Given the description of an element on the screen output the (x, y) to click on. 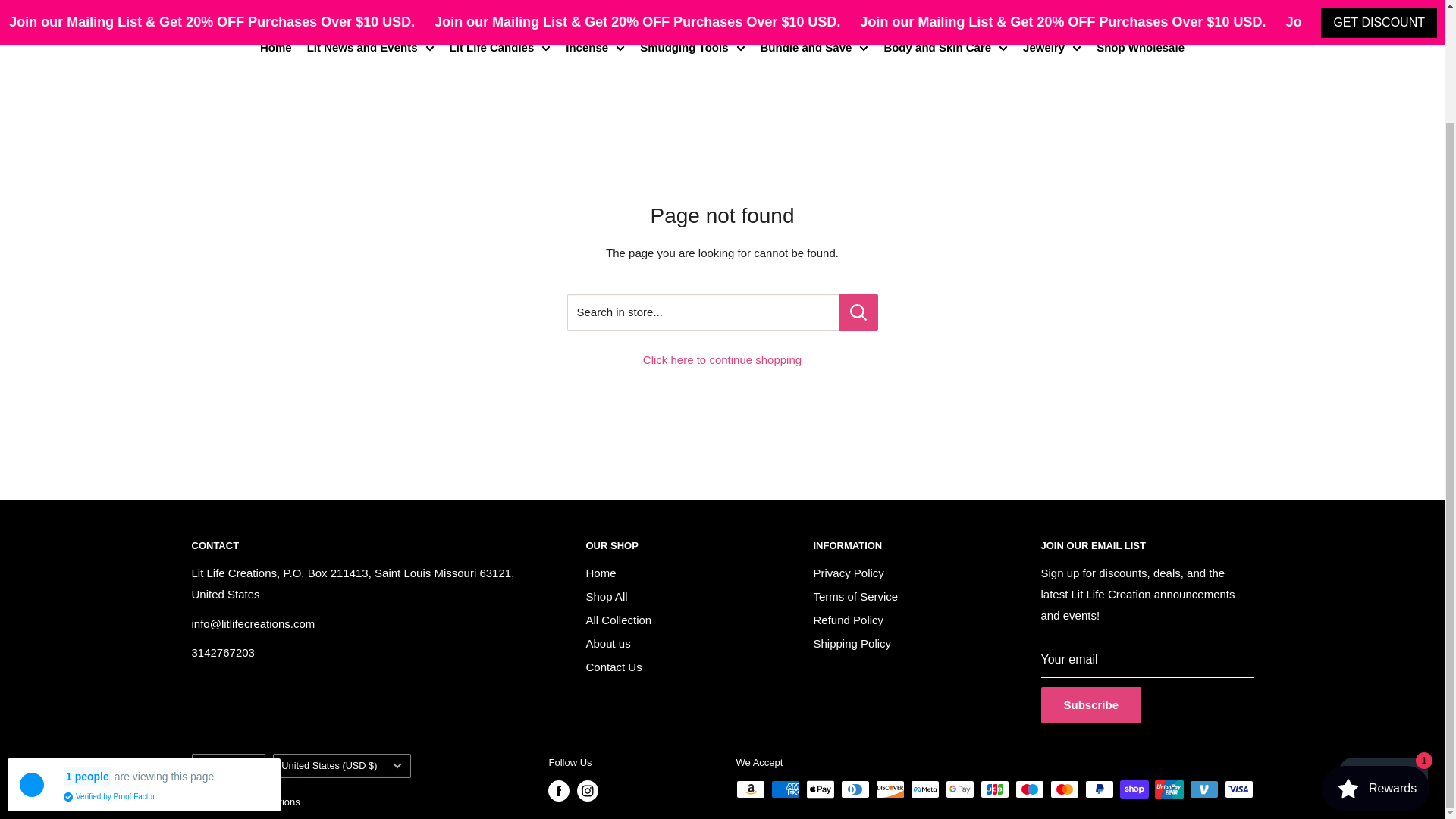
tel:3142767203 (221, 652)
Smile.io Rewards Program Launcher (1375, 655)
Shopify online store chat (1383, 648)
